Given the description of an element on the screen output the (x, y) to click on. 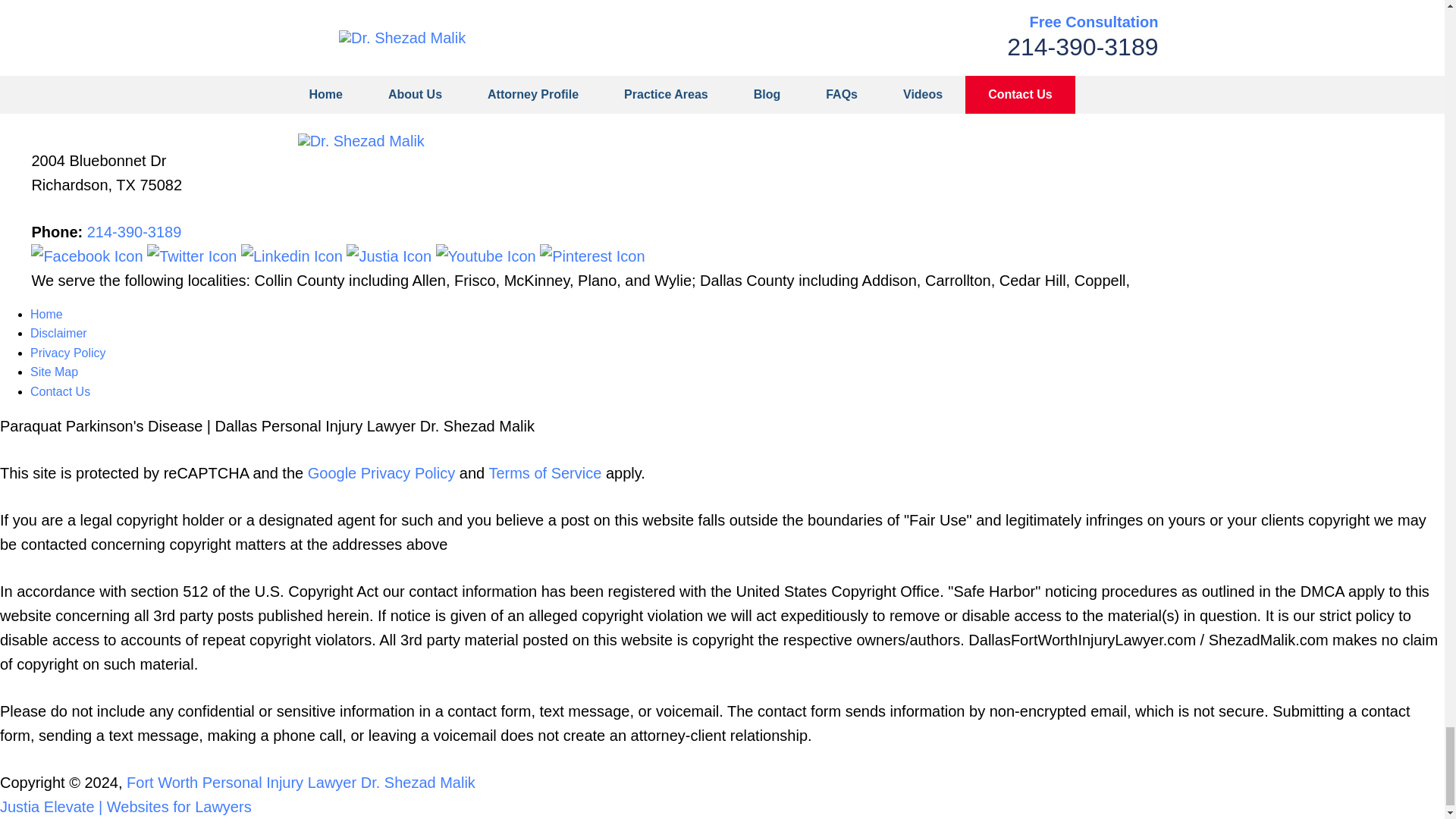
Facebook (88, 256)
Pinterest (592, 256)
Youtube (487, 256)
Justia (390, 256)
Twitter (194, 256)
Linkedin (293, 256)
